Given the description of an element on the screen output the (x, y) to click on. 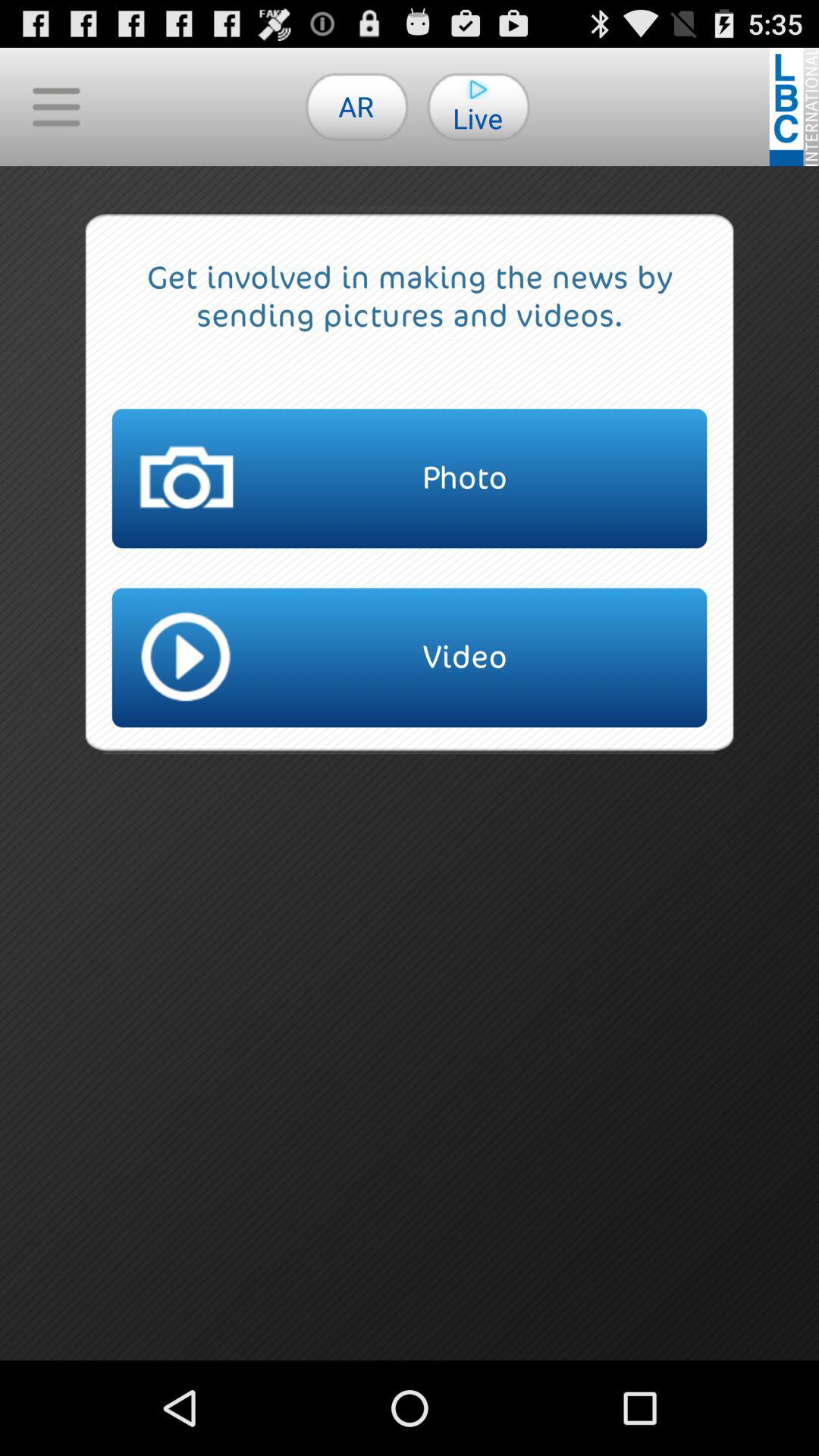
click the icon to the left of the ar icon (55, 106)
